Given the description of an element on the screen output the (x, y) to click on. 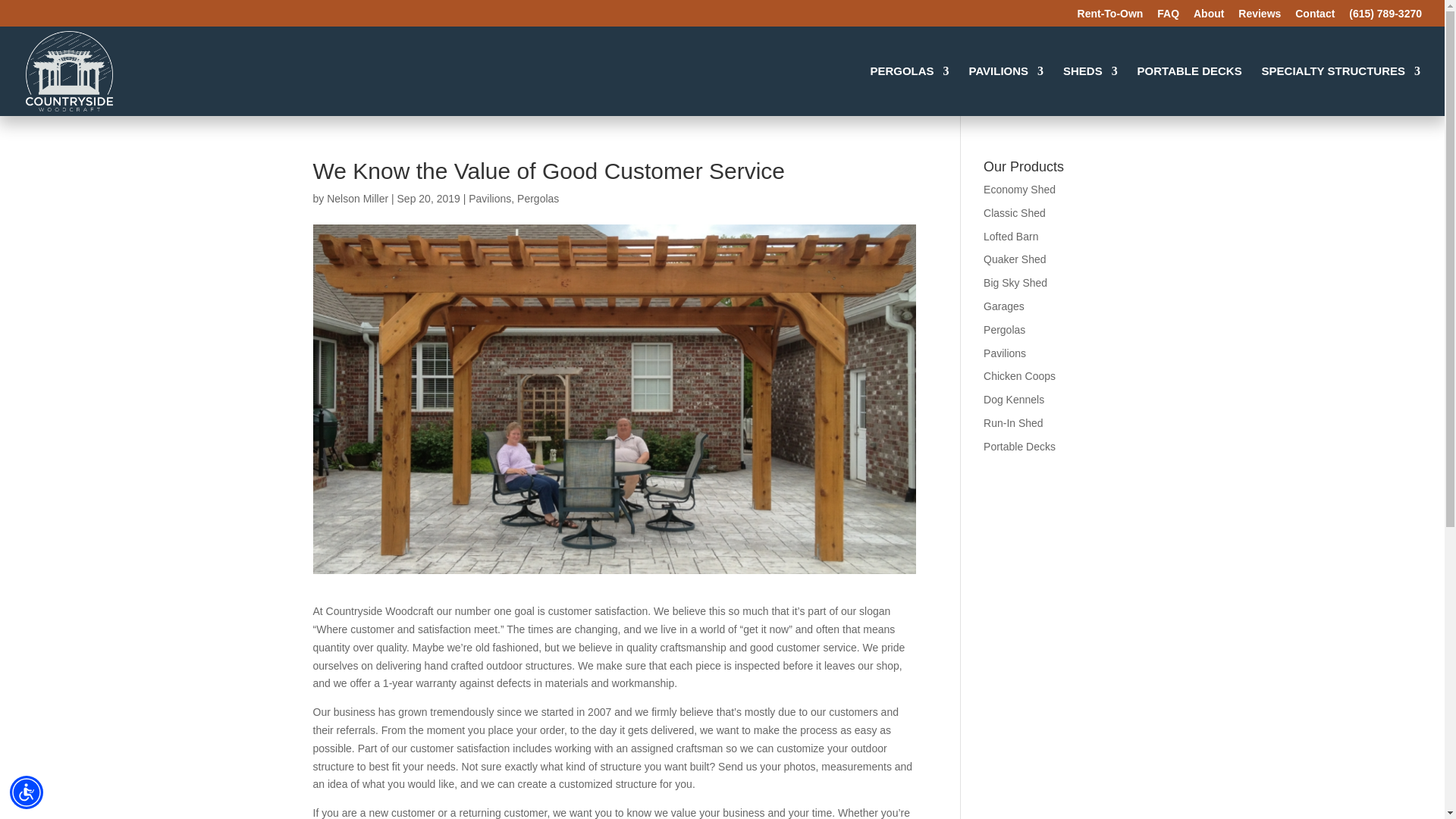
Rent-To-Own (1109, 16)
SHEDS (1090, 91)
FAQ (1168, 16)
Contact (1315, 16)
PORTABLE DECKS (1189, 91)
Posts by Nelson Miller (357, 198)
About (1208, 16)
PAVILIONS (1005, 91)
PERGOLAS (909, 91)
Reviews (1260, 16)
Accessibility Menu (26, 792)
SPECIALTY STRUCTURES (1341, 91)
